Given the description of an element on the screen output the (x, y) to click on. 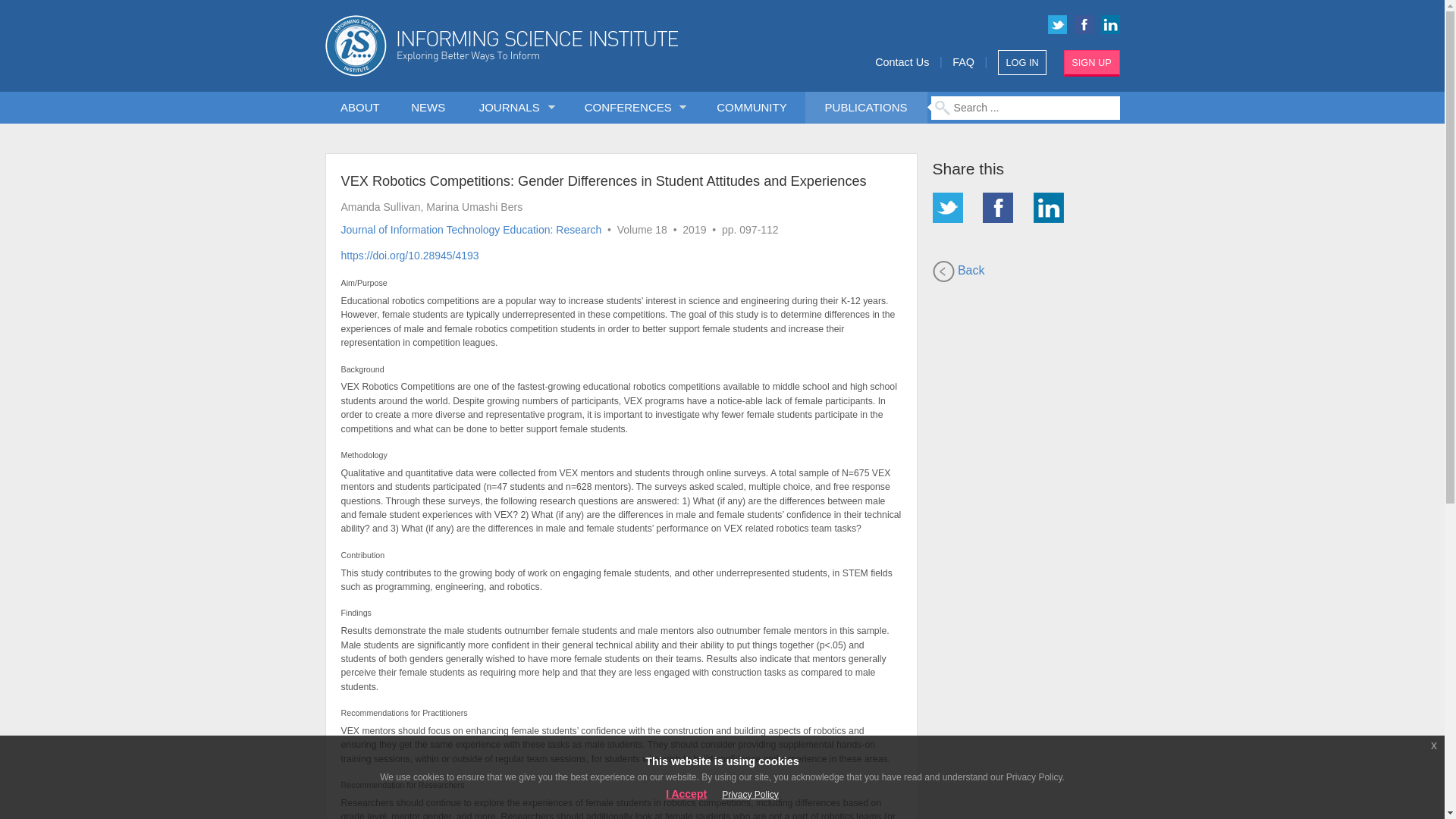
Journal of Information Technology Education: Research (471, 228)
ABOUT (360, 107)
NEWS (428, 107)
SIGN UP (1091, 62)
COMMUNITY (751, 107)
Contact Us (901, 61)
FAQ (963, 61)
CONFERENCES   (631, 107)
ISI Home (552, 45)
PUBLICATIONS (865, 107)
